Given the description of an element on the screen output the (x, y) to click on. 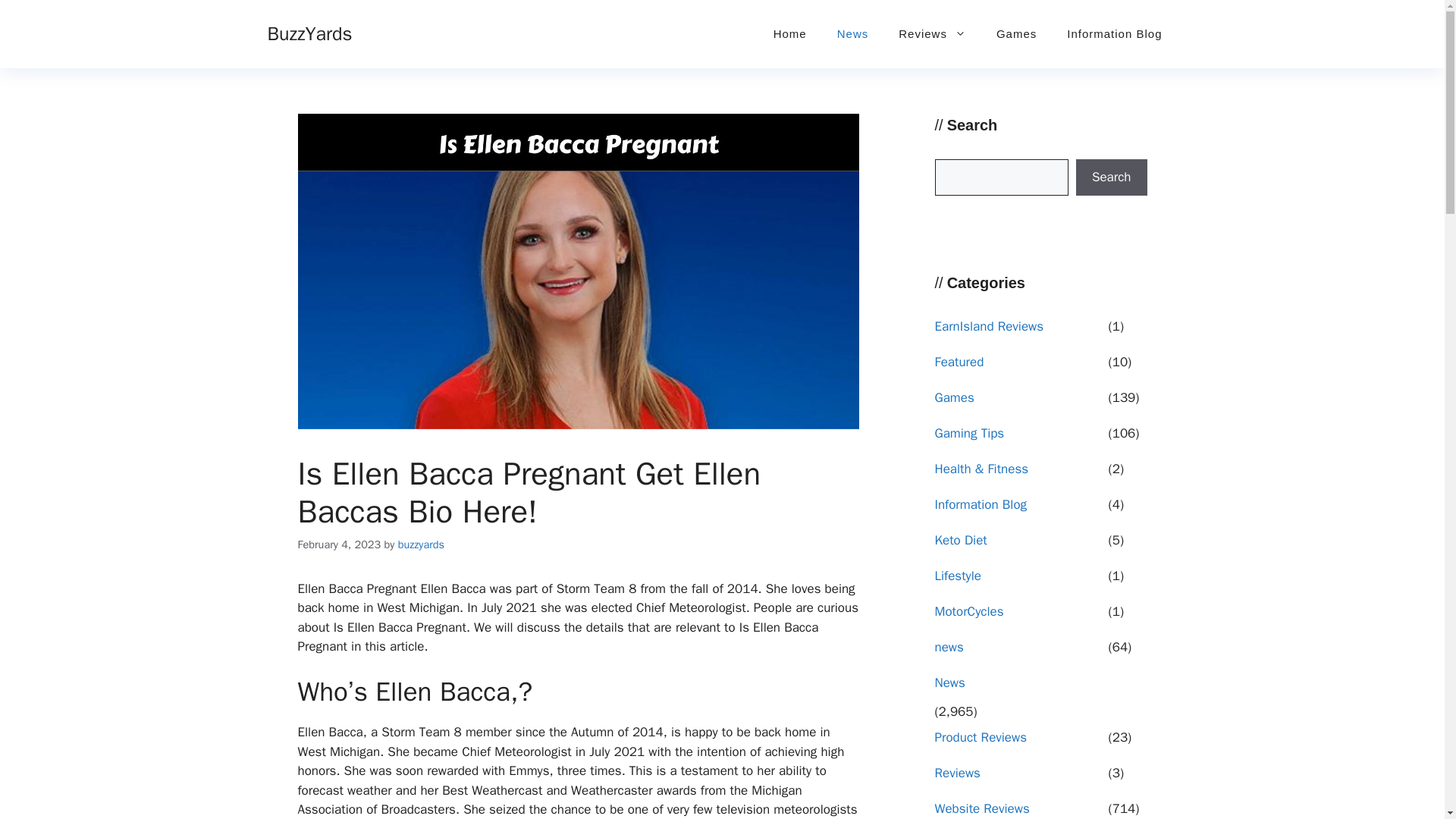
Featured (1018, 366)
Games (1018, 402)
news (1018, 651)
Keto Diet (1018, 545)
Home (790, 33)
Information Blog (1113, 33)
Search (1111, 176)
News (852, 33)
EarnIsland Reviews (1018, 331)
Lifestyle (1018, 580)
Gaming Tips (1018, 437)
Website Reviews (1018, 809)
Games (1016, 33)
buzzyards (420, 544)
News (1018, 687)
